Given the description of an element on the screen output the (x, y) to click on. 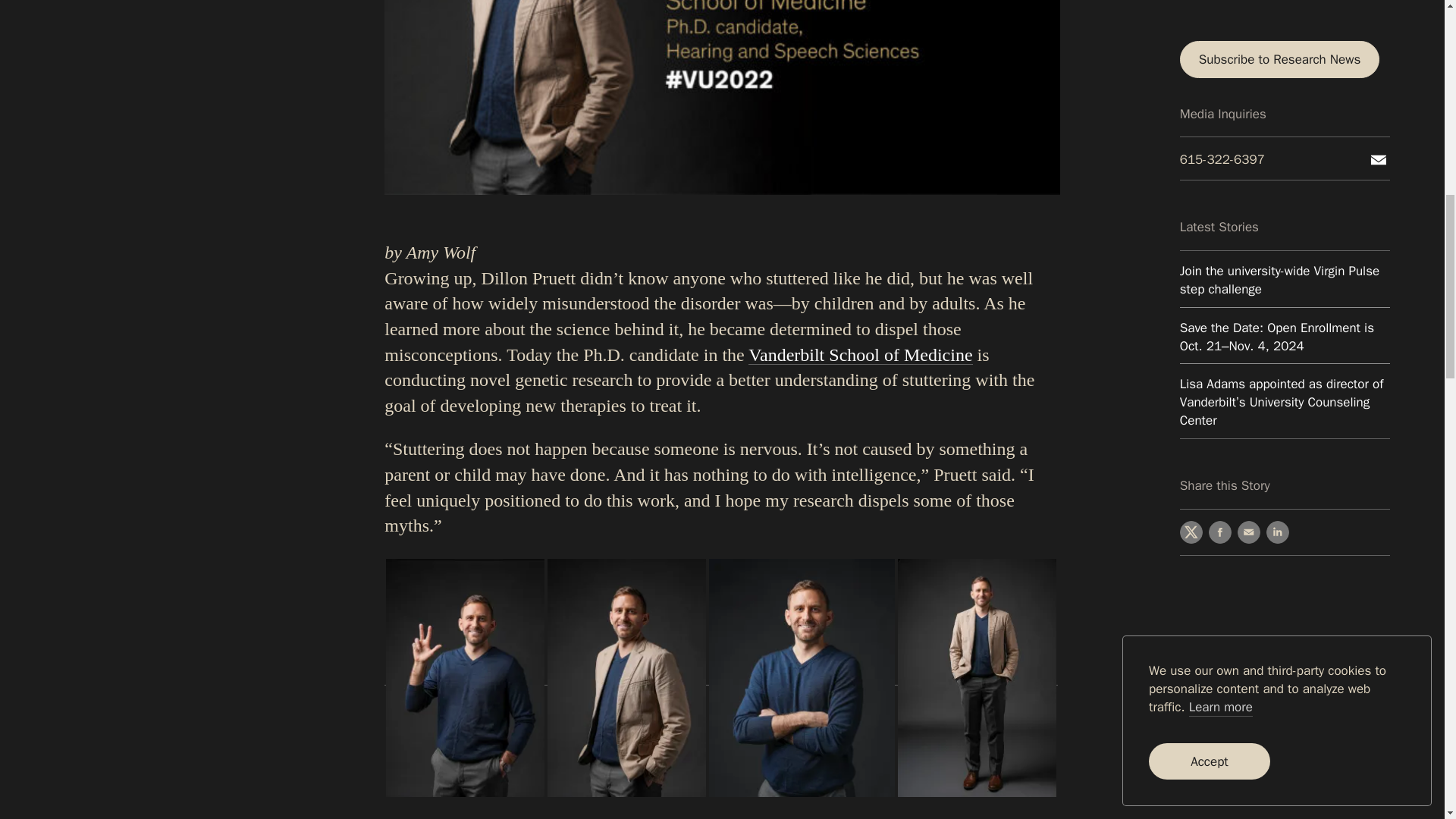
Facebook (1219, 164)
BioVU DNA databank (661, 817)
Vanderbilt School of Medicine (860, 354)
Email (1248, 164)
Twitter (1190, 164)
LinkedIn (1277, 164)
